Given the description of an element on the screen output the (x, y) to click on. 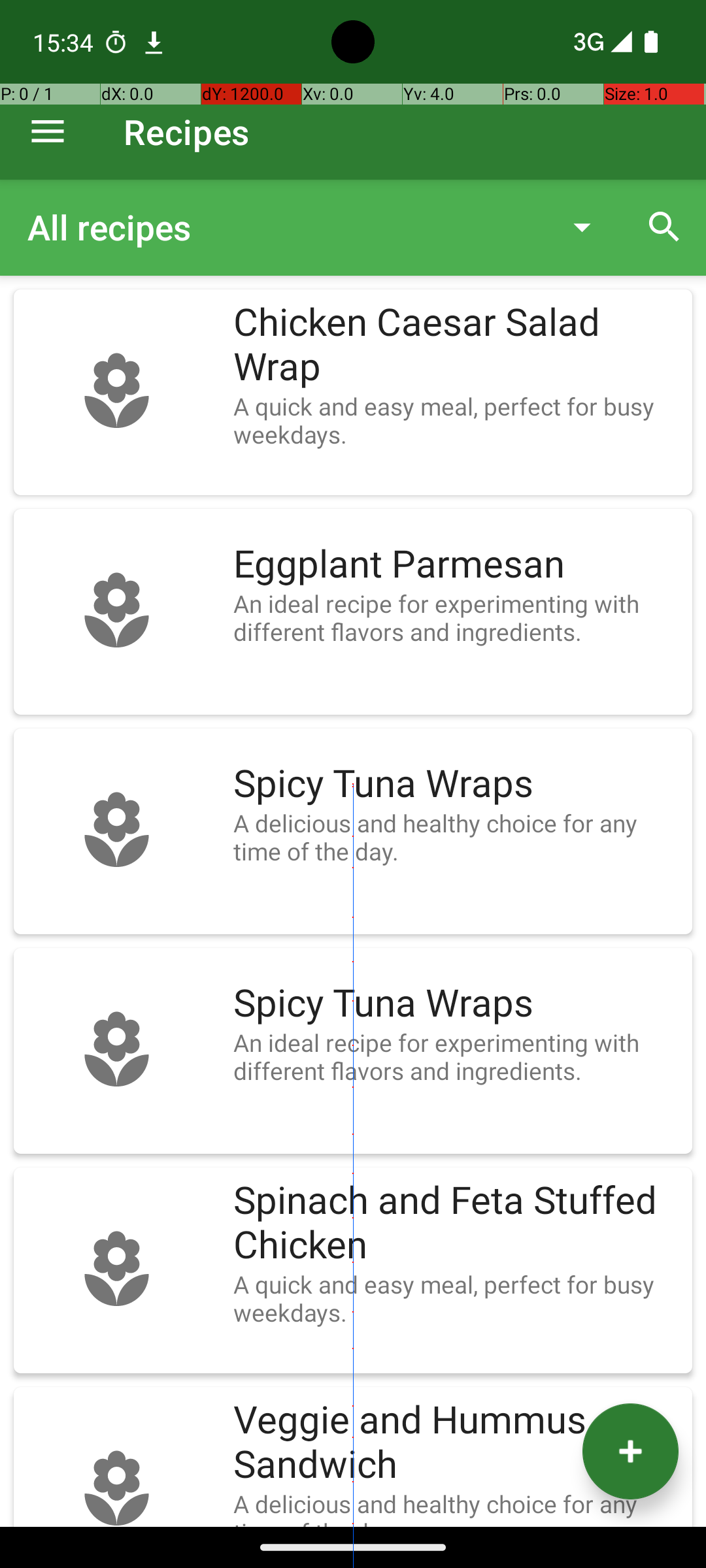
Spicy Tuna Wraps Element type: android.widget.TextView (455, 783)
Spinach and Feta Stuffed Chicken Element type: android.widget.TextView (455, 1222)
Veggie and Hummus Sandwich Element type: android.widget.TextView (455, 1442)
